Given the description of an element on the screen output the (x, y) to click on. 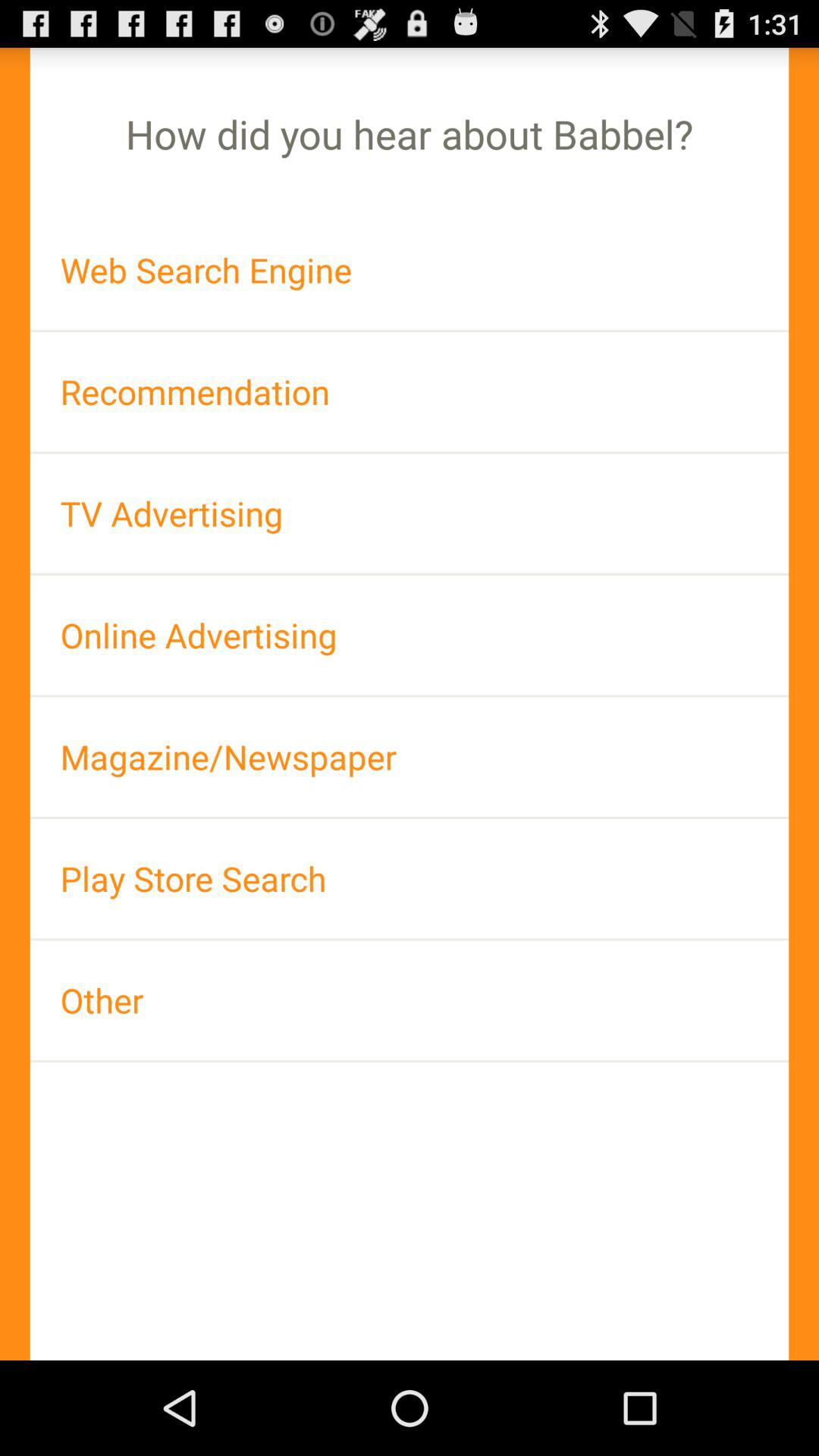
press item above the tv advertising (409, 391)
